Given the description of an element on the screen output the (x, y) to click on. 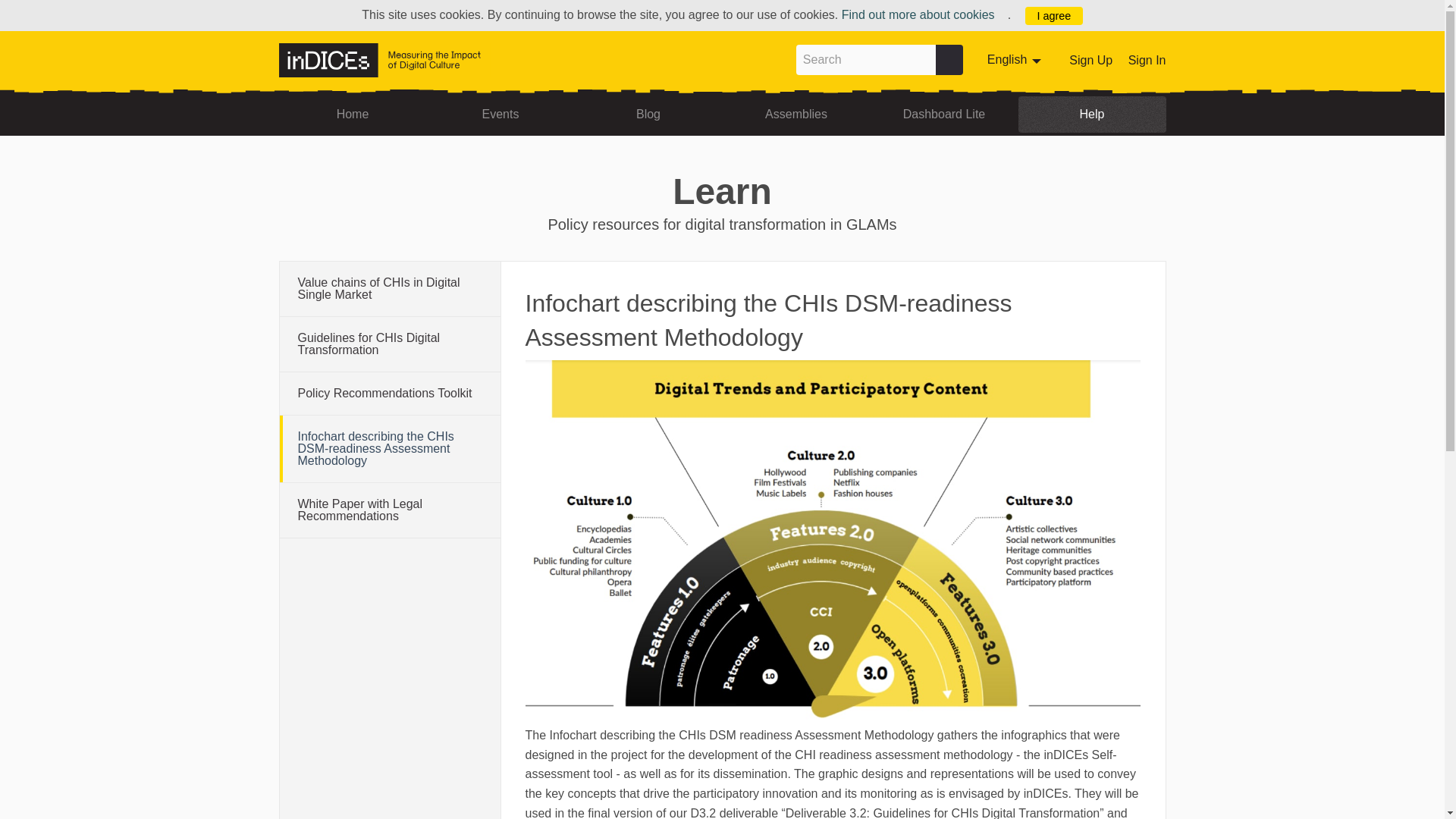
Events (499, 114)
Help (1091, 114)
Policy Recommendations Toolkit (389, 393)
Find out more about cookies (924, 14)
Blog (648, 114)
I agree (1054, 15)
Search (949, 60)
Search (866, 60)
Guidelines for CHIs Digital Transformation (389, 343)
Dashboard Lite (943, 114)
Sign In (1016, 59)
White Paper with Legal Recommendations (1147, 60)
Home (389, 510)
